Given the description of an element on the screen output the (x, y) to click on. 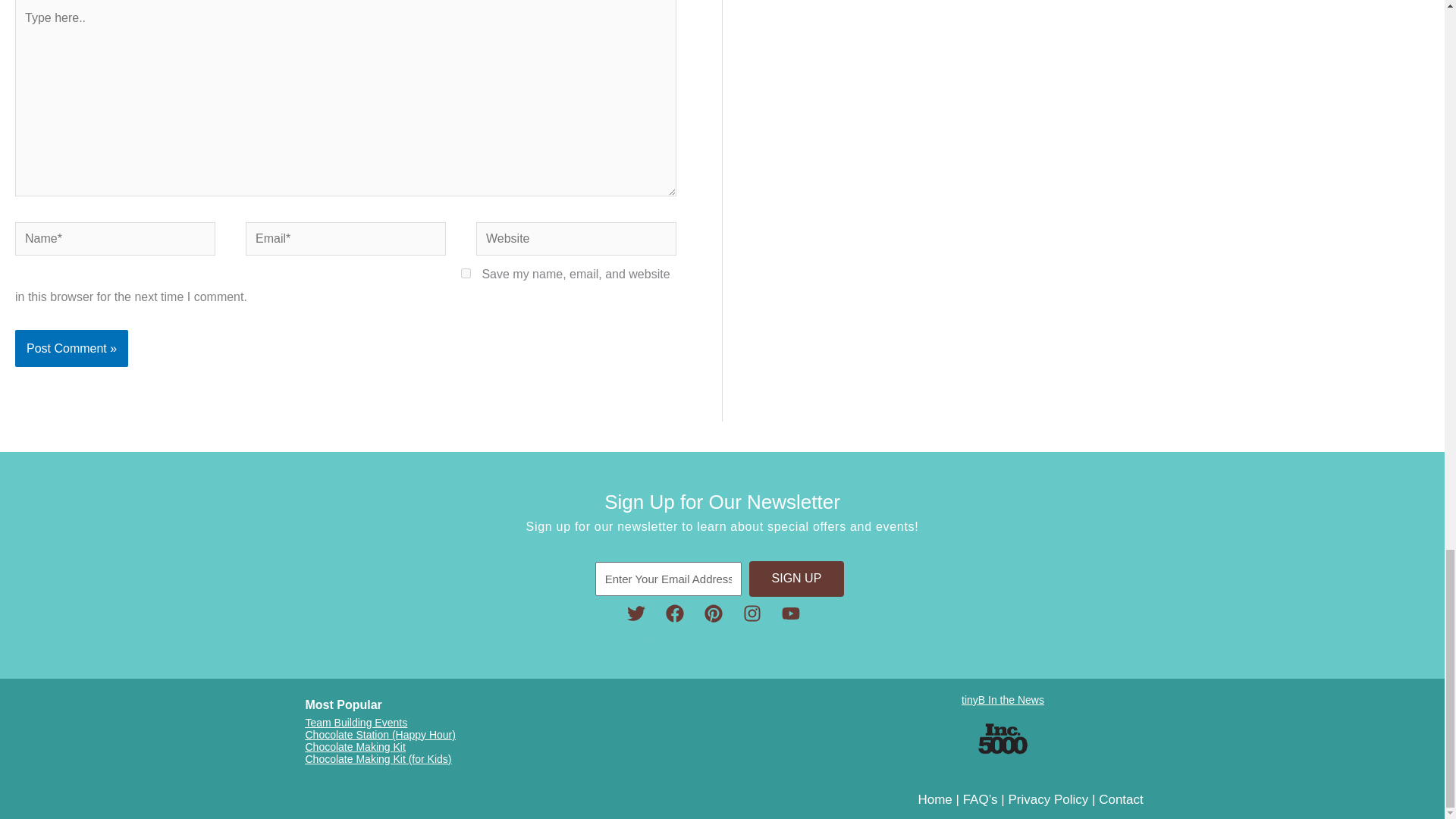
yes (465, 273)
